Given the description of an element on the screen output the (x, y) to click on. 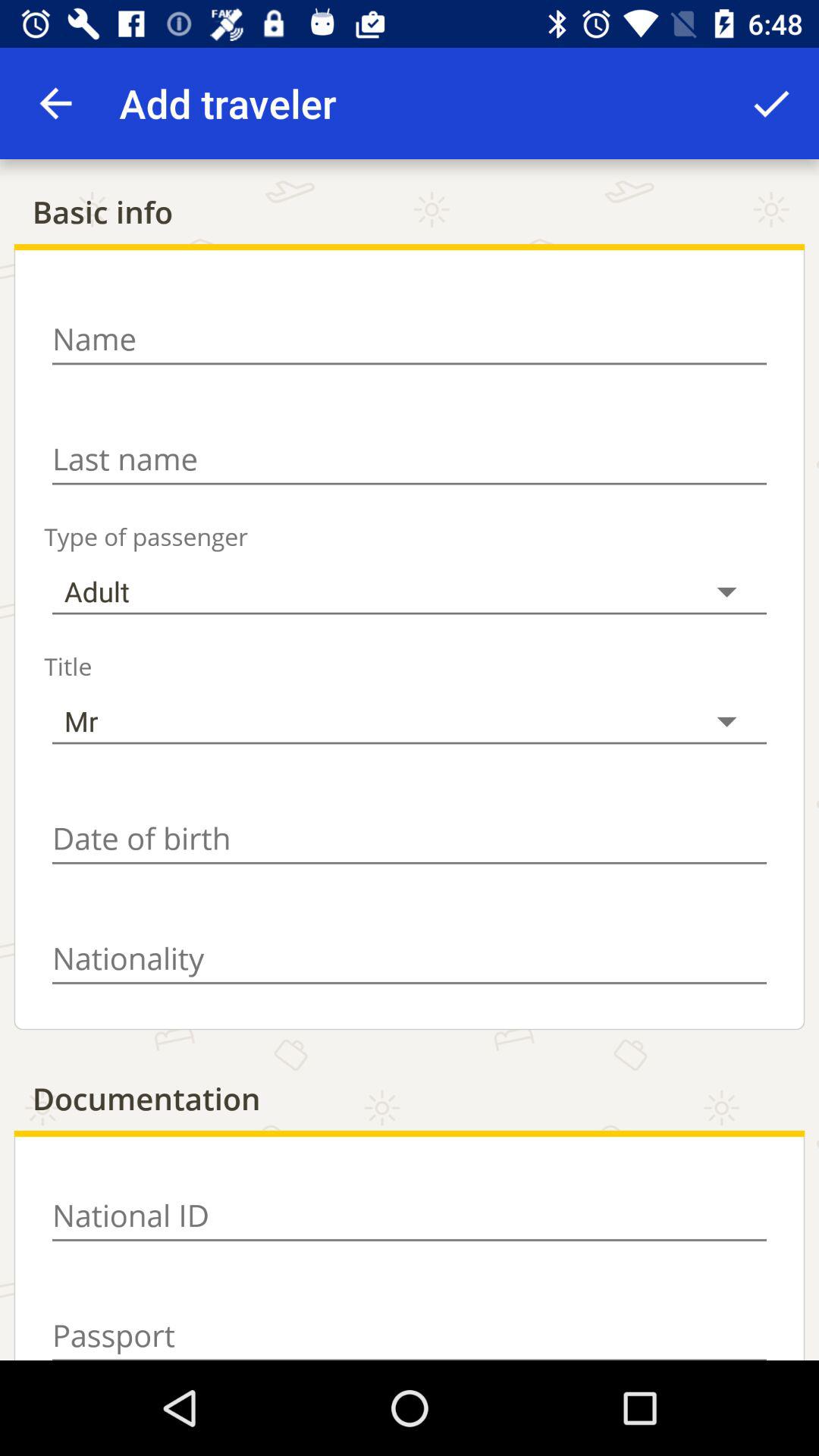
enter password (409, 1327)
